Given the description of an element on the screen output the (x, y) to click on. 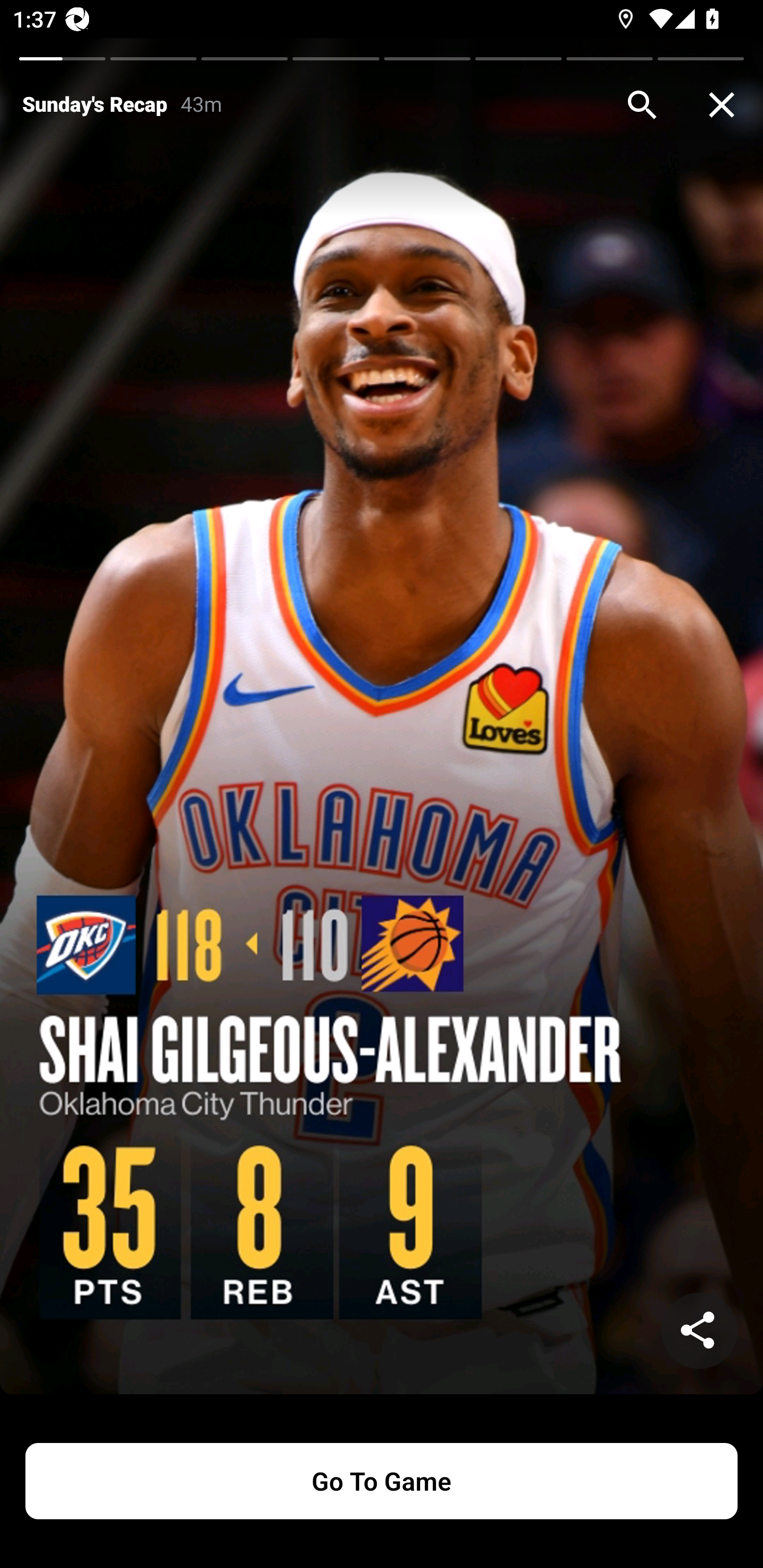
search (642, 104)
close (721, 104)
share (699, 1330)
Go To Game (381, 1480)
